Given the description of an element on the screen output the (x, y) to click on. 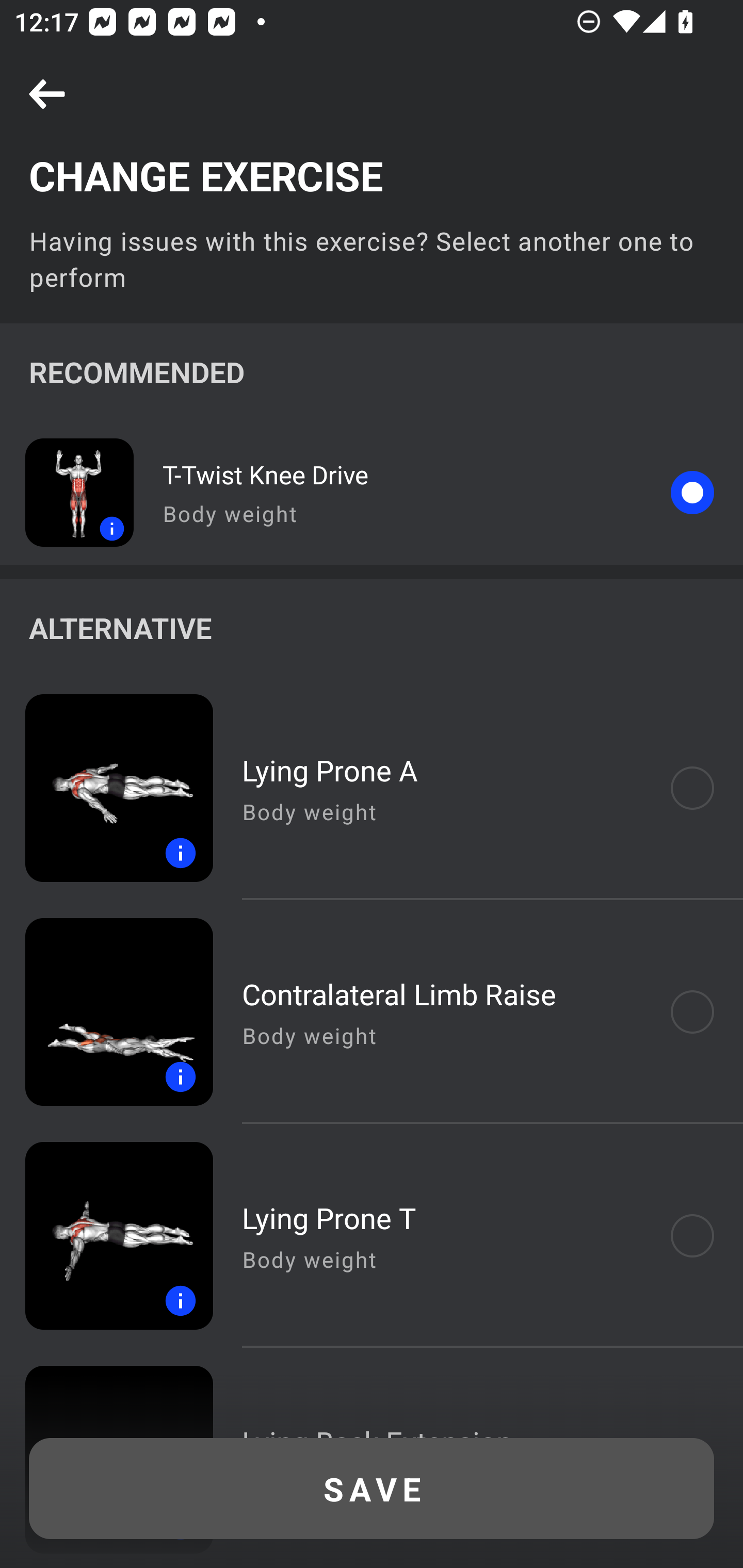
Navigation icon (46, 94)
details T-Twist Knee Drive Body weight (371, 492)
details (66, 492)
details Lying Prone A Body weight (371, 787)
details (106, 787)
details Contralateral Limb Raise Body weight (371, 1012)
details (106, 1012)
details Lying Prone T Body weight (371, 1236)
details (106, 1236)
SAVE (371, 1488)
